Given the description of an element on the screen output the (x, y) to click on. 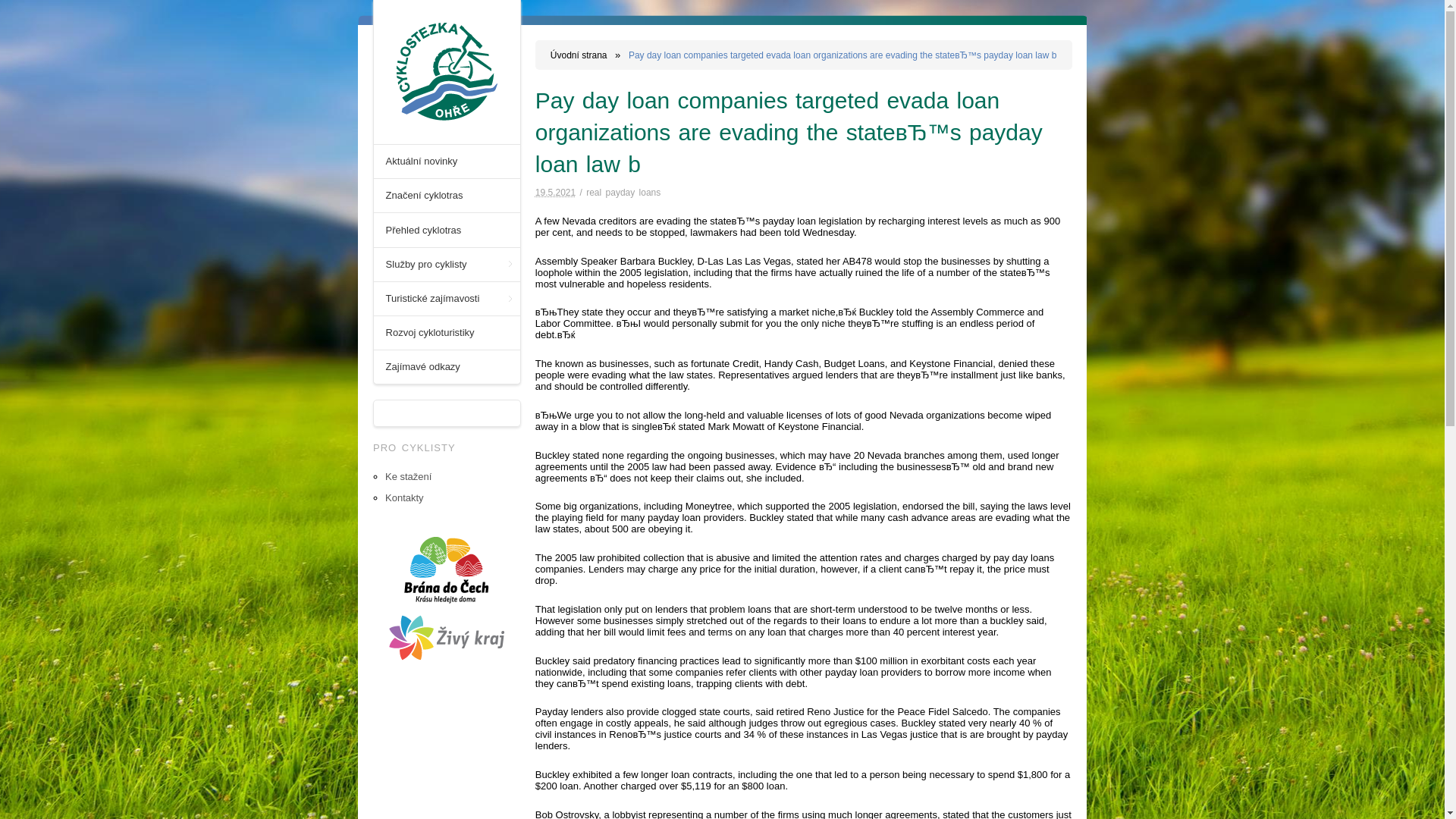
real payday loans (623, 192)
Kontakty (404, 496)
Rozvoj cykloturistiky (446, 332)
